Given the description of an element on the screen output the (x, y) to click on. 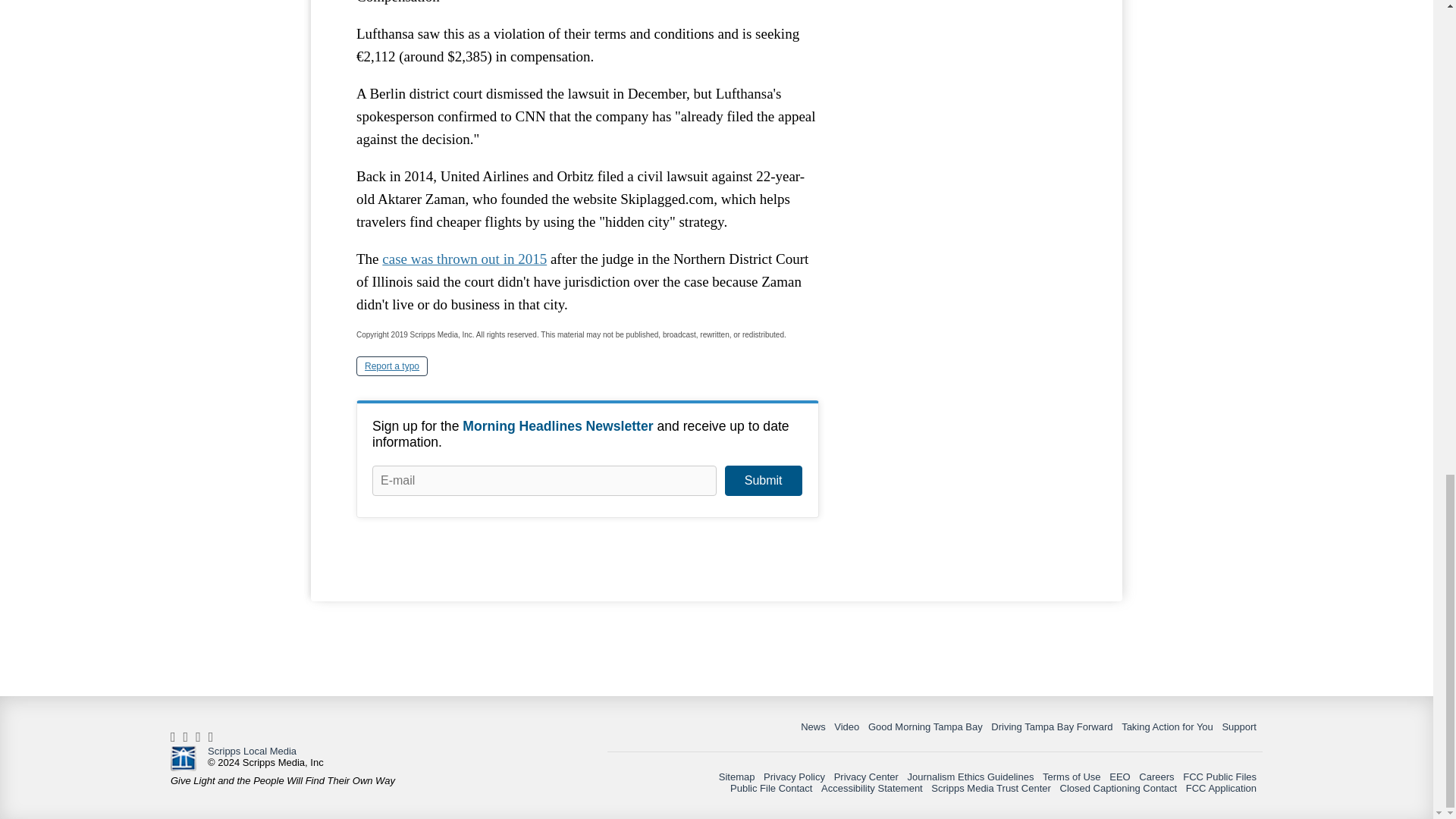
Submit (763, 481)
